Given the description of an element on the screen output the (x, y) to click on. 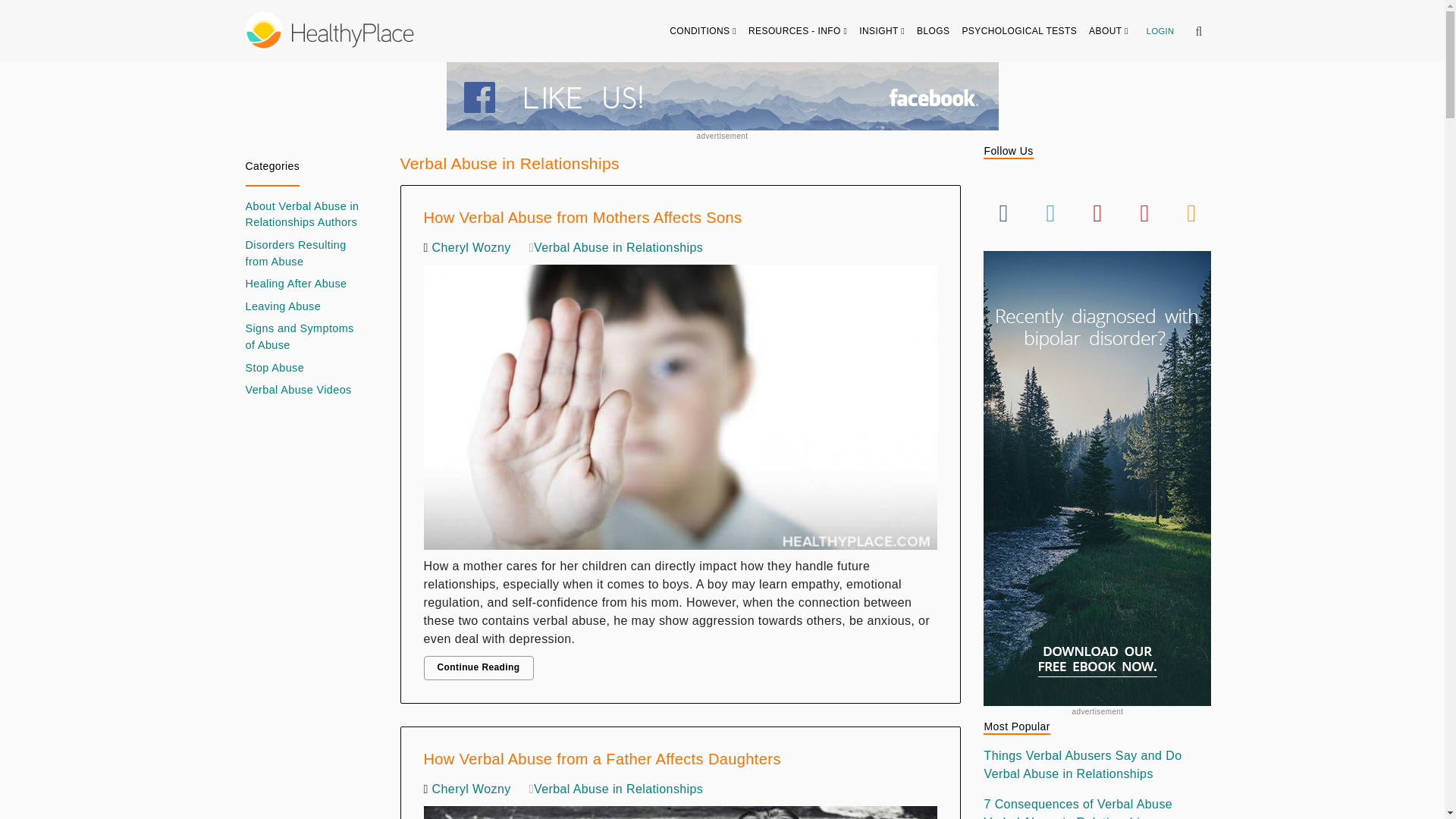
RESOURCES - INFO (797, 31)
CONDITIONS (702, 31)
Join our Facebook community for mental health support (721, 96)
How Verbal Abuse from a Father Affects Daughters (680, 808)
INSIGHT (882, 31)
